Given the description of an element on the screen output the (x, y) to click on. 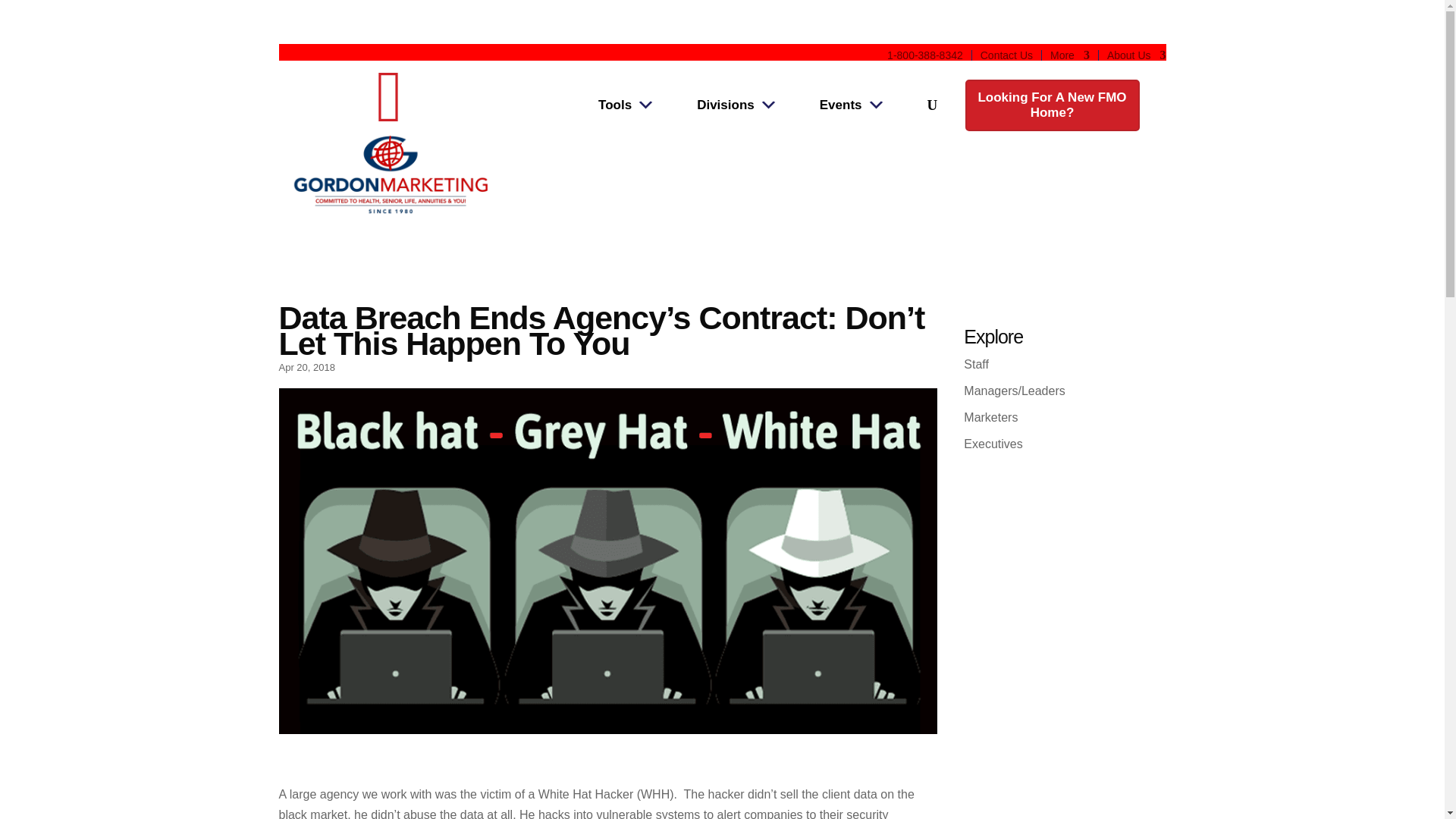
Hacker chart (389, 116)
About Us (1136, 54)
More (1069, 54)
Tools (626, 105)
Divisions (737, 105)
1-800-388-8342 (924, 54)
Contact Us (1005, 54)
